Given the description of an element on the screen output the (x, y) to click on. 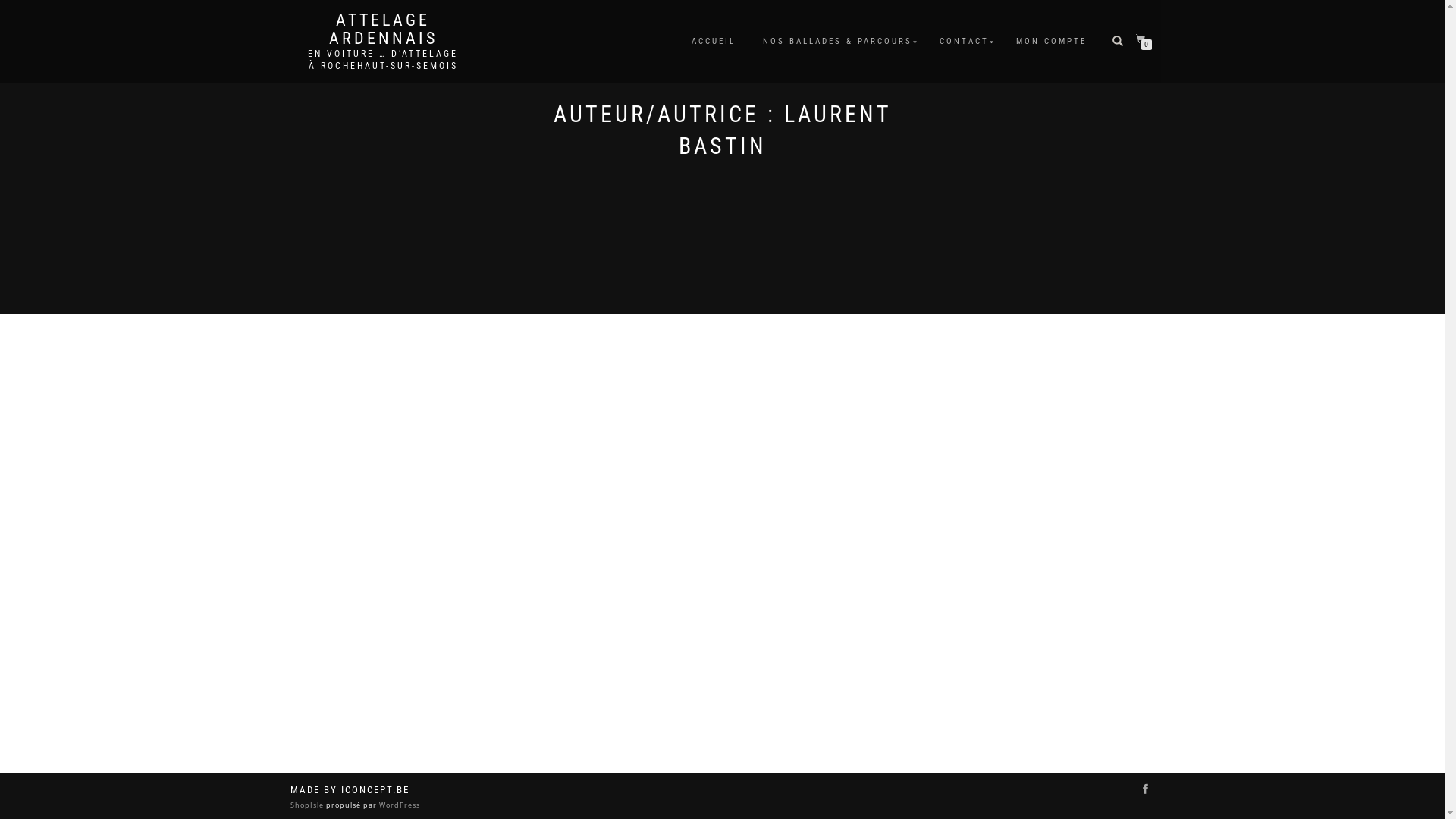
ATTELAGE ARDENNAIS Element type: text (382, 29)
MON COMPTE Element type: text (1050, 41)
0 Element type: text (1143, 39)
CONTACT Element type: text (964, 41)
ShopIsle Element type: text (307, 804)
NOS BALLADES & PARCOURS Element type: text (836, 41)
ACCUEIL Element type: text (712, 41)
WordPress Element type: text (397, 804)
